Given the description of an element on the screen output the (x, y) to click on. 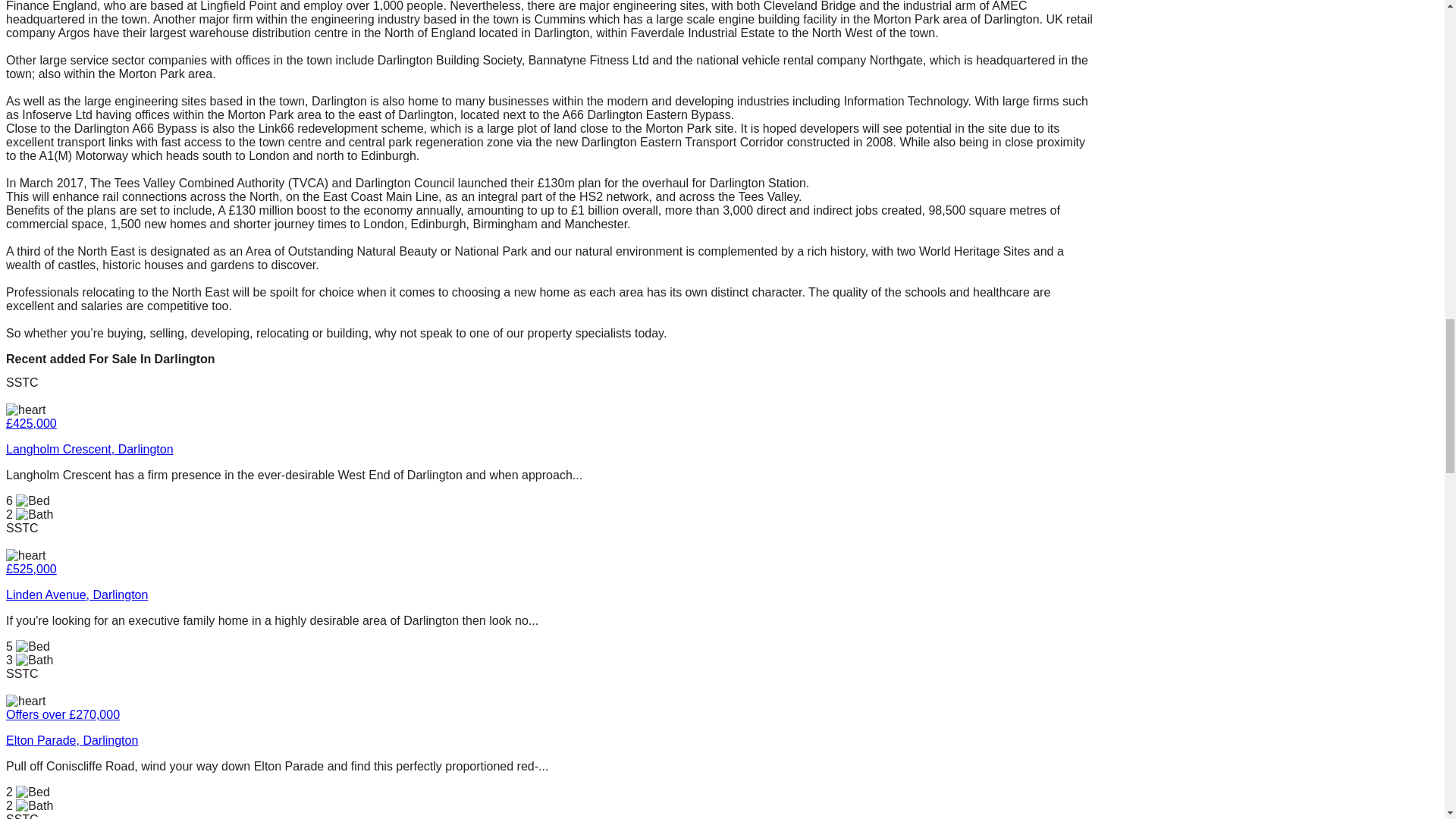
Langholm Crescent, Darlington (89, 449)
Save (25, 555)
Elton Parade, Darlington (71, 739)
Save (25, 701)
Linden Avenue, Darlington (551, 594)
Langholm Crescent, Darlington (551, 449)
Linden Avenue, Darlington (76, 594)
Save (25, 409)
Elton Parade, Darlington (551, 740)
